Given the description of an element on the screen output the (x, y) to click on. 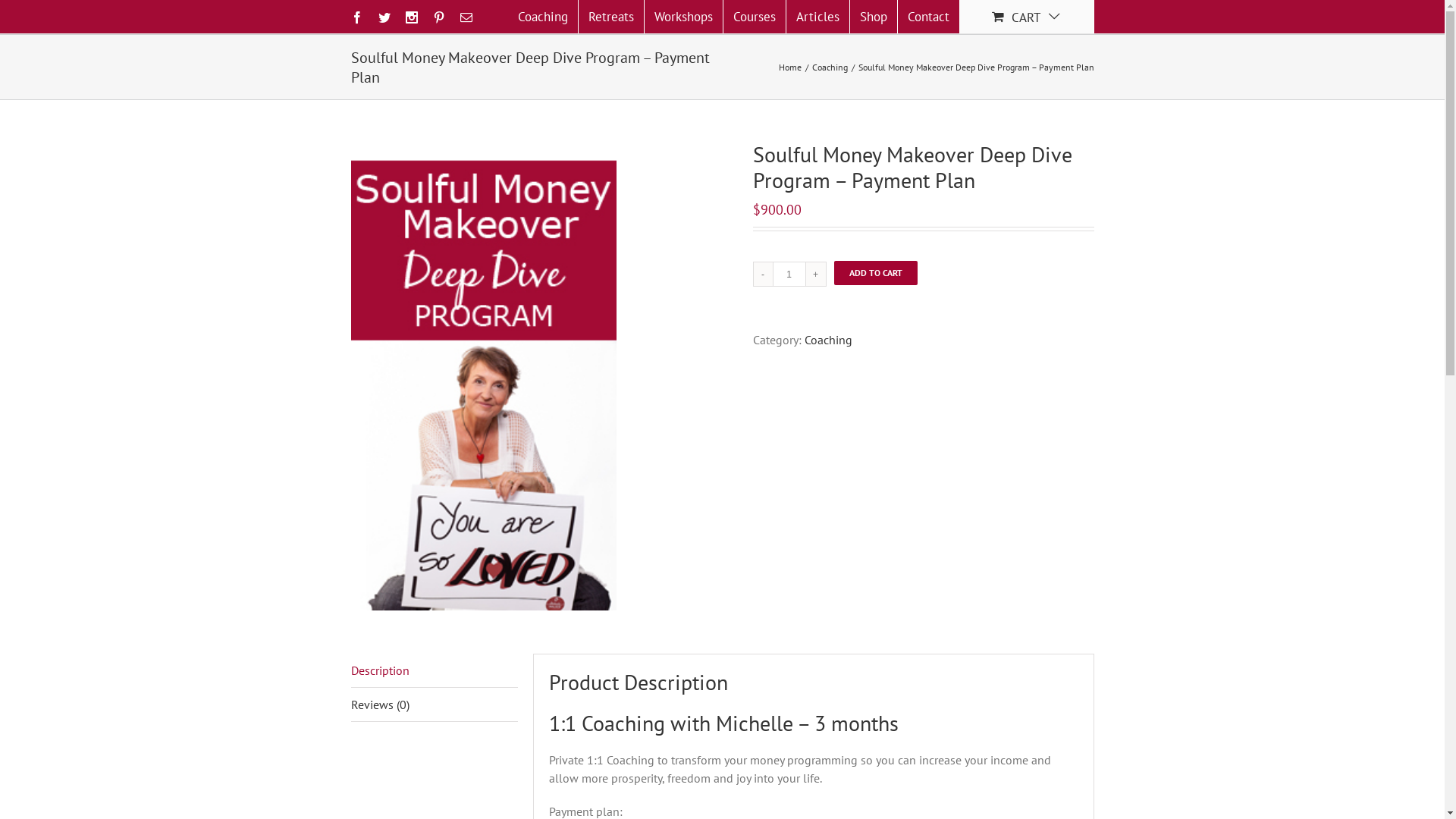
Retreats Element type: text (610, 16)
Home Element type: text (789, 66)
Courses Element type: text (754, 16)
CART Element type: text (1026, 16)
Reviews (0) Element type: text (433, 704)
Contact Element type: text (928, 16)
Shop Element type: text (872, 16)
Description Element type: text (433, 670)
SoulfulMoneyMakeover2_rectan copy Element type: hover (482, 375)
ADD TO CART Element type: text (875, 272)
Articles Element type: text (816, 16)
Coaching Element type: text (827, 339)
Workshops Element type: text (683, 16)
Coaching Element type: text (542, 16)
Coaching Element type: text (829, 66)
